Given the description of an element on the screen output the (x, y) to click on. 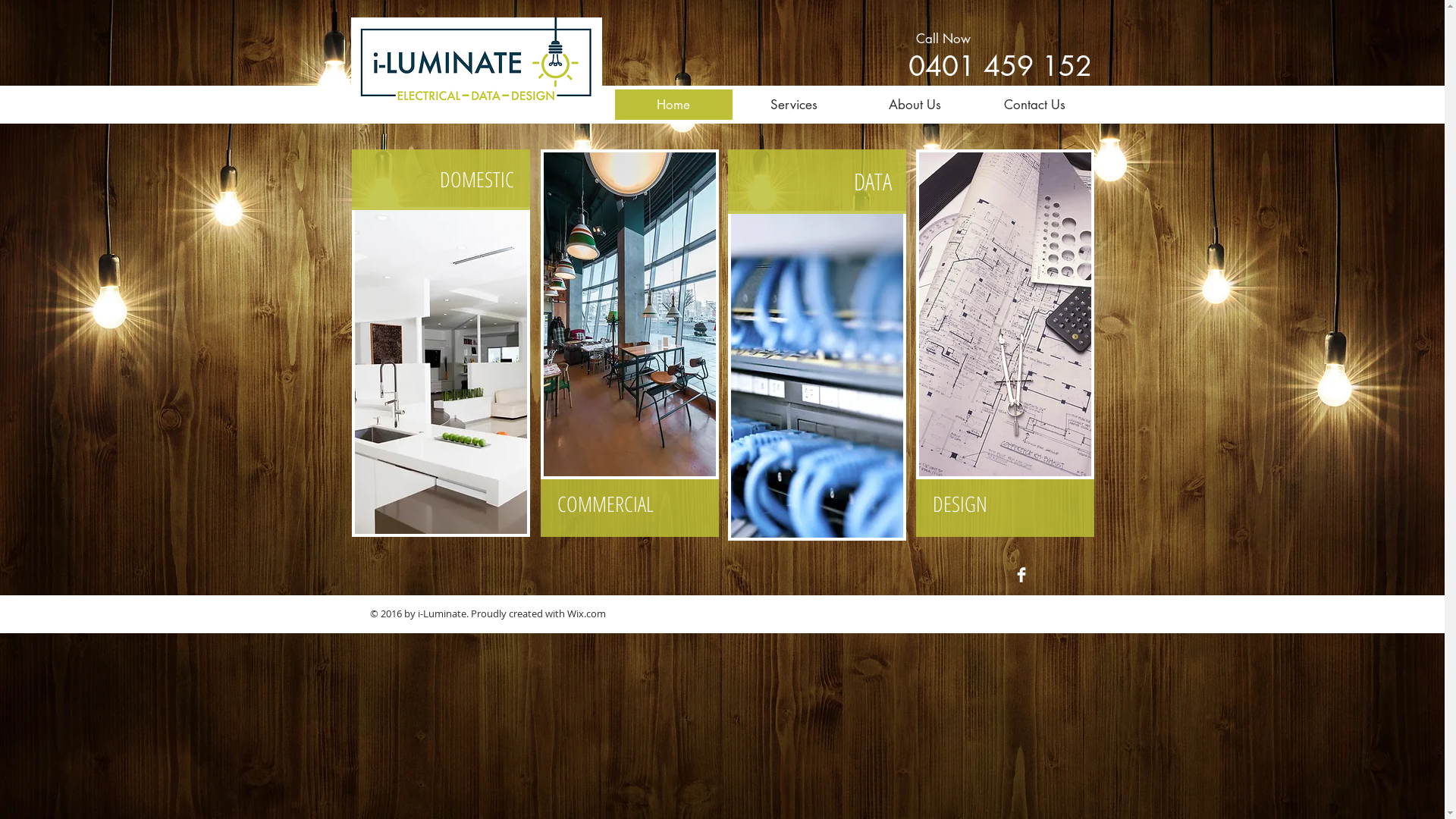
iLuminate_LogoWEB_edited.png Element type: hover (475, 61)
Bright and Modern Kitchen Element type: hover (440, 371)
Services Element type: text (794, 104)
Wix.com Element type: text (586, 613)
Urban Cafe Element type: hover (628, 314)
Network Hub and Cable Element type: hover (817, 375)
About Us Element type: text (913, 104)
Contact Us Element type: text (1034, 104)
Blueprint Design Element type: hover (1005, 314)
Home Element type: text (672, 104)
